Given the description of an element on the screen output the (x, y) to click on. 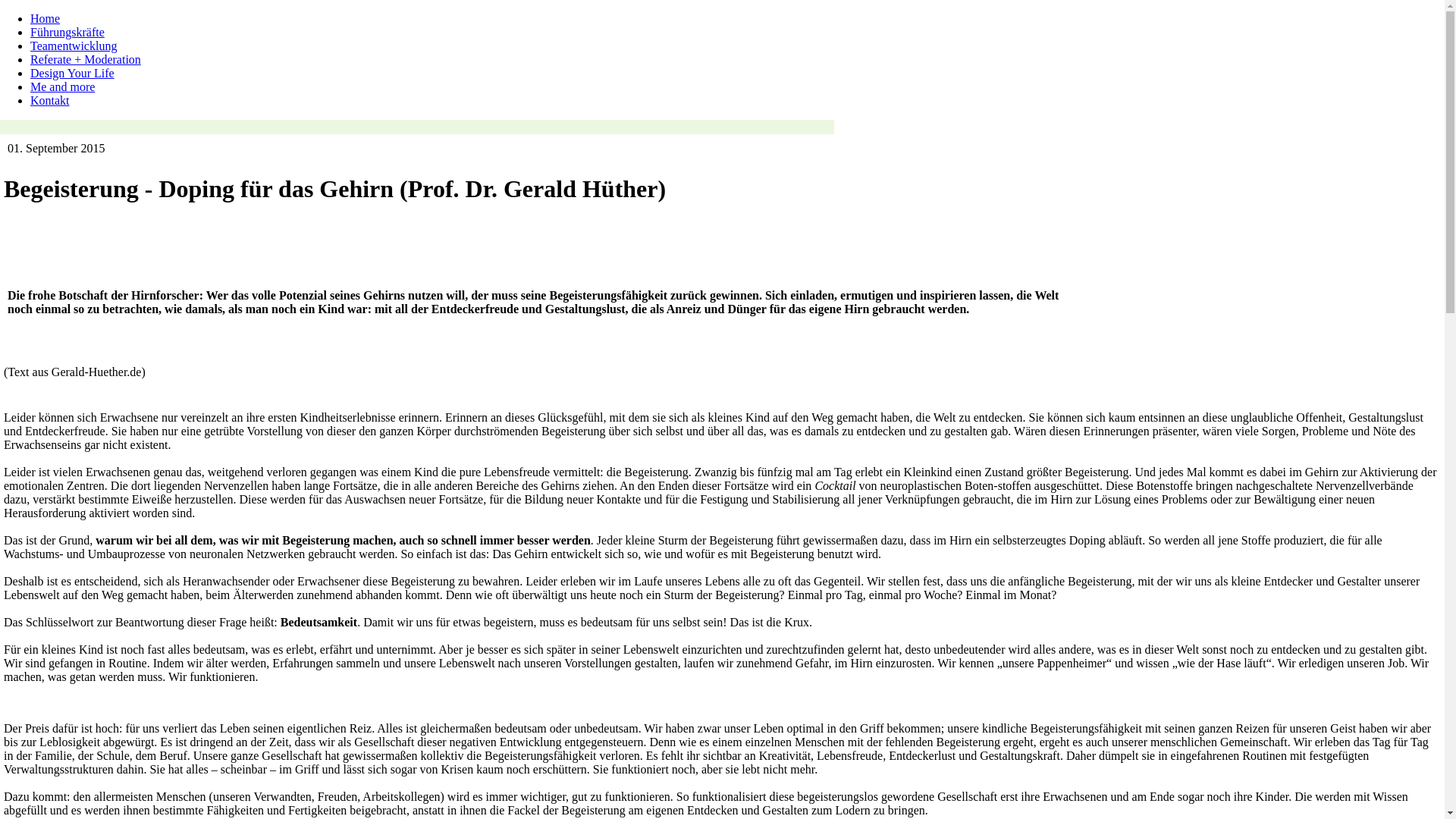
Me and more Element type: text (62, 86)
Kontakt Element type: text (49, 100)
Referate + Moderation Element type: text (85, 59)
Teamentwicklung Element type: text (73, 45)
Home Element type: text (44, 18)
Design Your Life Element type: text (72, 72)
